Given the description of an element on the screen output the (x, y) to click on. 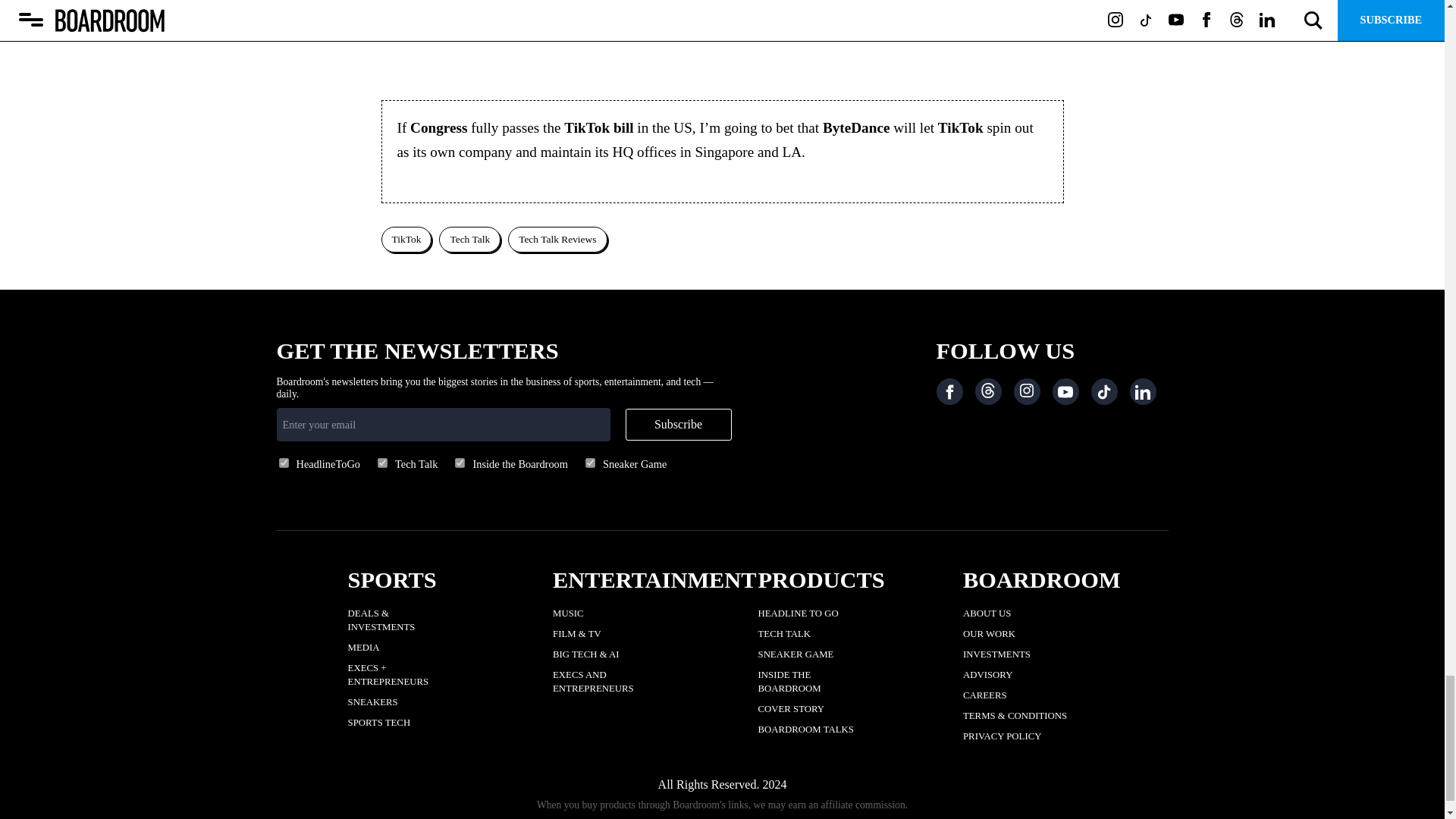
HeadlineToGo (283, 462)
Inside the Boardroom (459, 462)
Tech Talk (382, 462)
Sneaker Game (590, 462)
